Given the description of an element on the screen output the (x, y) to click on. 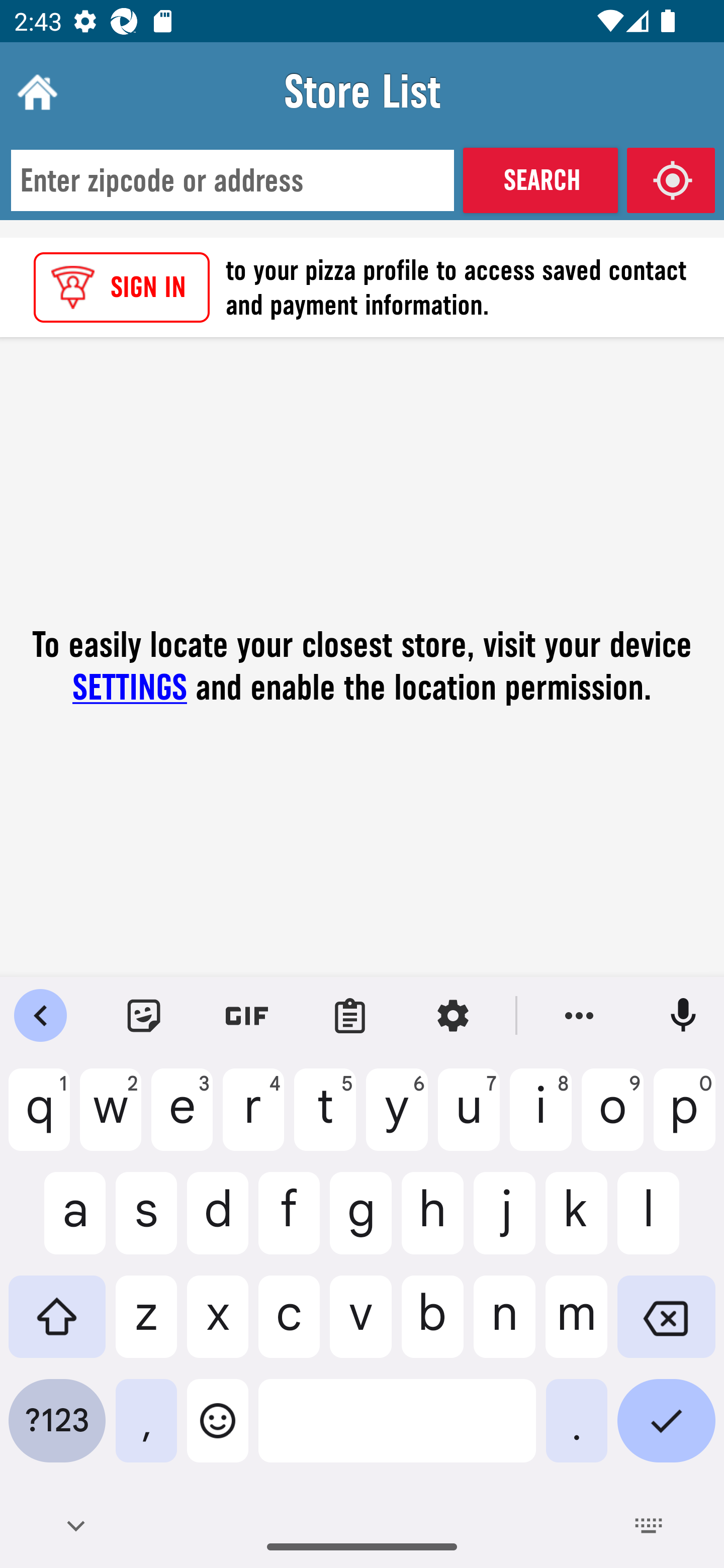
Home (35, 91)
SEARCH (540, 180)
Use Current Location (670, 180)
Enter zipcode or address (231, 180)
SIGN IN (121, 287)
